Given the description of an element on the screen output the (x, y) to click on. 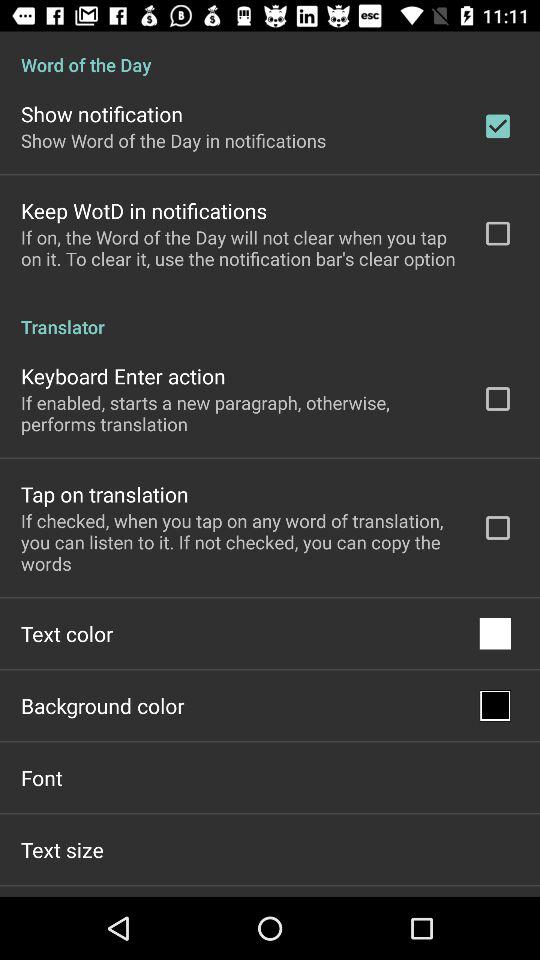
turn off keep wotd in icon (144, 210)
